Given the description of an element on the screen output the (x, y) to click on. 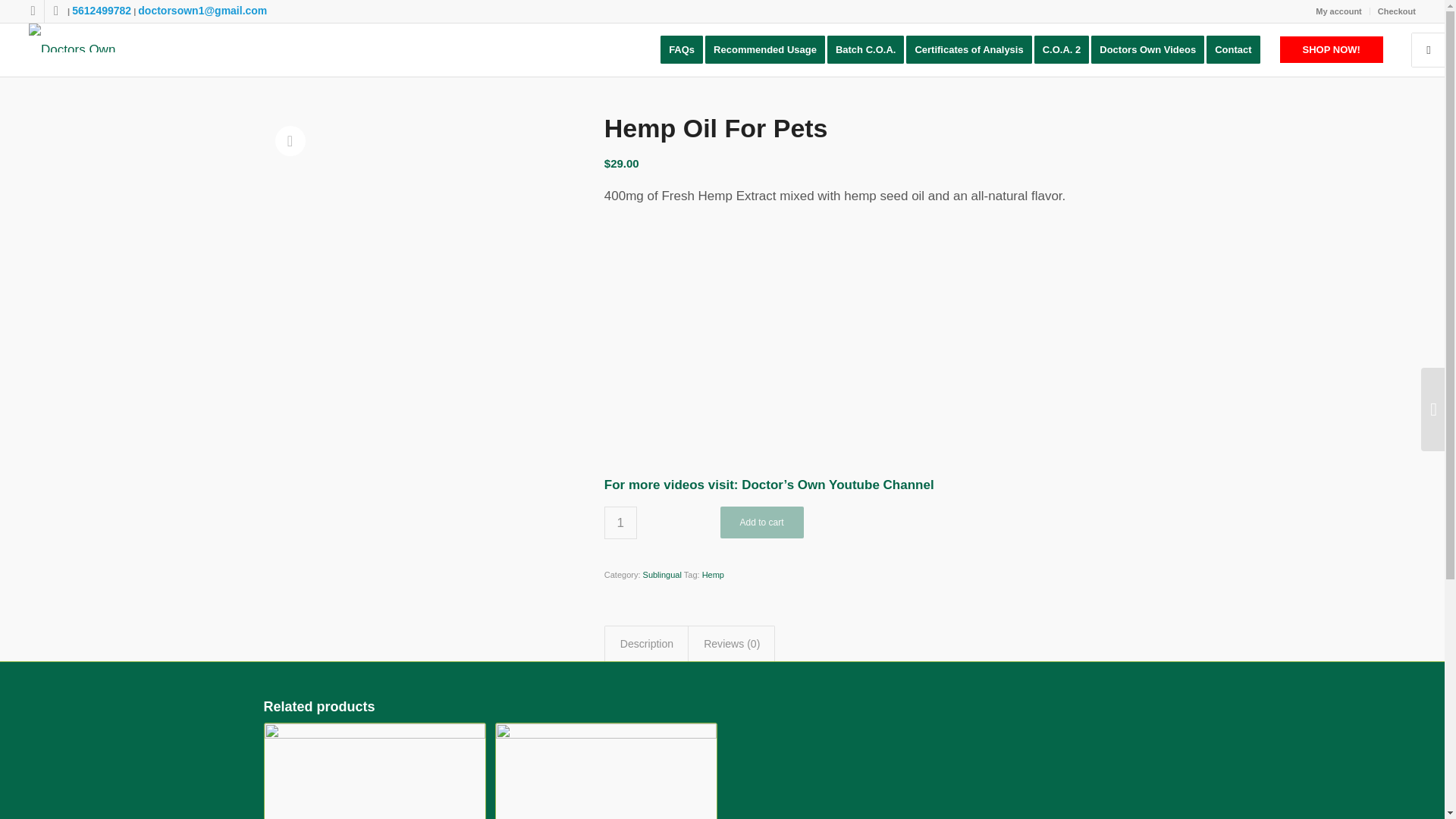
Go to Doctor's Own Youtube Channel (837, 484)
C.O.A. 2 (1066, 49)
Batch C.O.A. (870, 49)
FAQs (681, 49)
Youtube (55, 11)
Recommended Usage (769, 49)
YouTube video player (816, 336)
5612499782 (101, 10)
Contact (1238, 49)
SHOP NOW! (1331, 49)
